Given the description of an element on the screen output the (x, y) to click on. 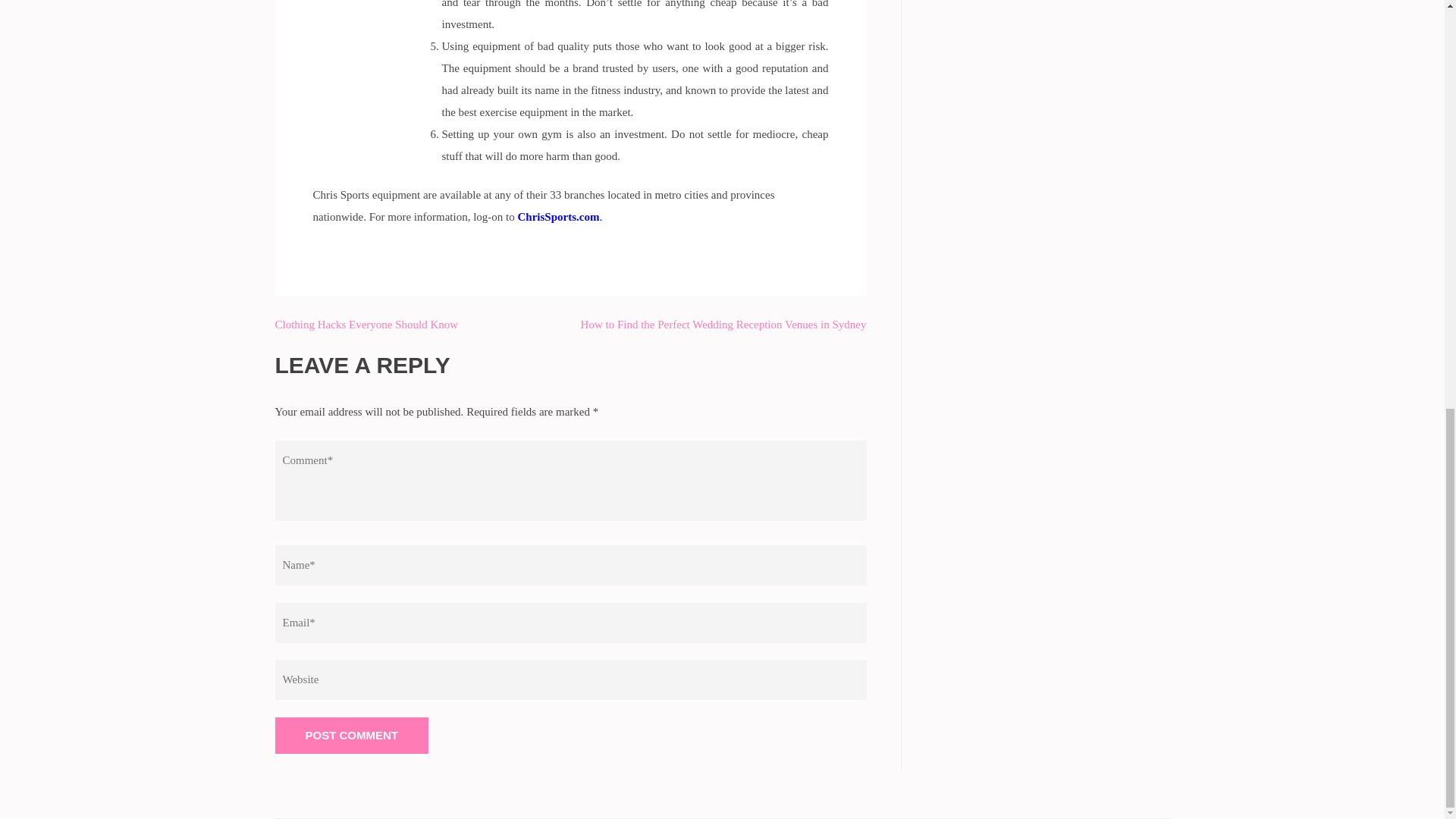
Post Comment (351, 734)
Clothing Hacks Everyone Should Know (366, 323)
Post Comment (351, 734)
How to Find the Perfect Wedding Reception Venues in Sydney (723, 323)
